Given the description of an element on the screen output the (x, y) to click on. 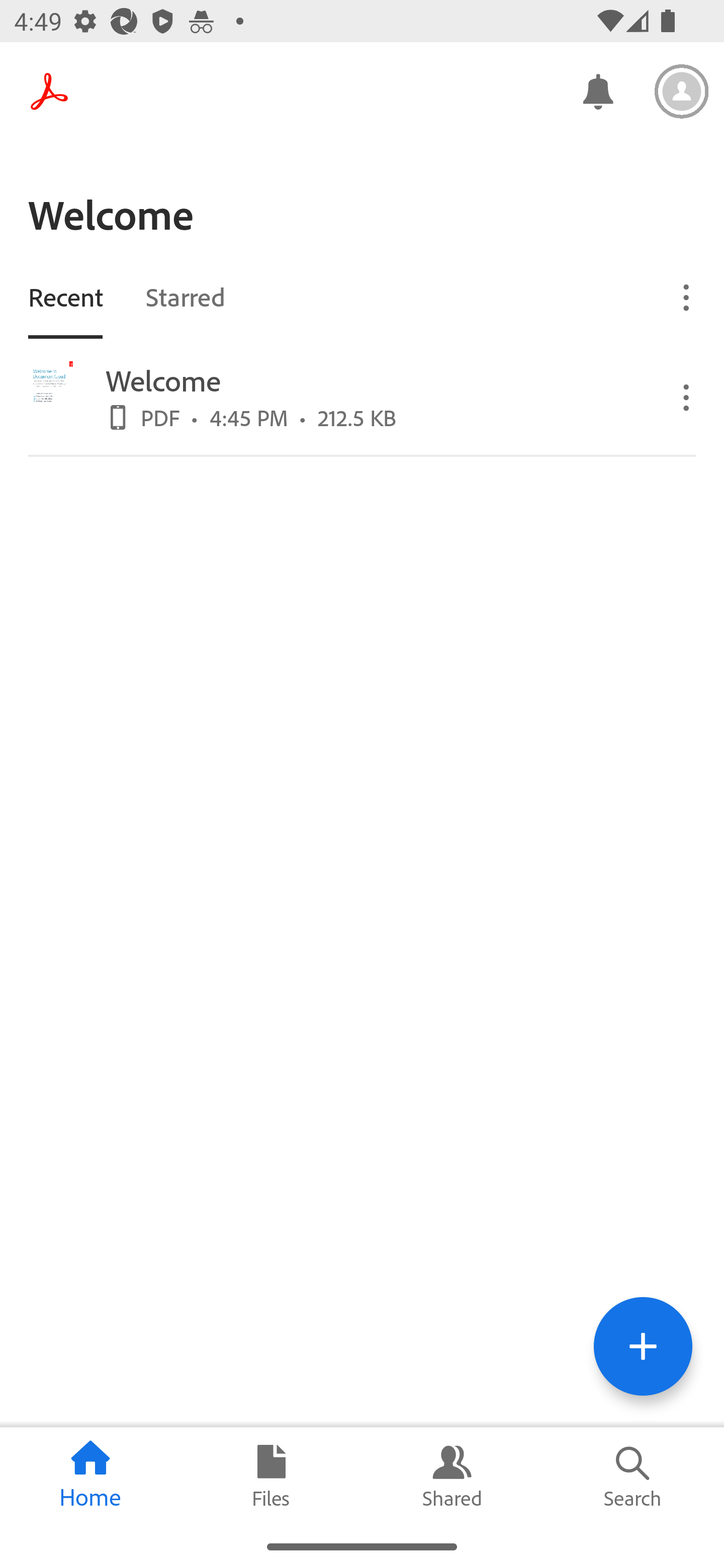
Notifications (597, 90)
Settings (681, 91)
Recent (65, 296)
Starred (185, 296)
Overflow (687, 296)
Overflow (687, 396)
Tools (642, 1345)
Home (90, 1475)
Files (271, 1475)
Shared (452, 1475)
Search (633, 1475)
